Given the description of an element on the screen output the (x, y) to click on. 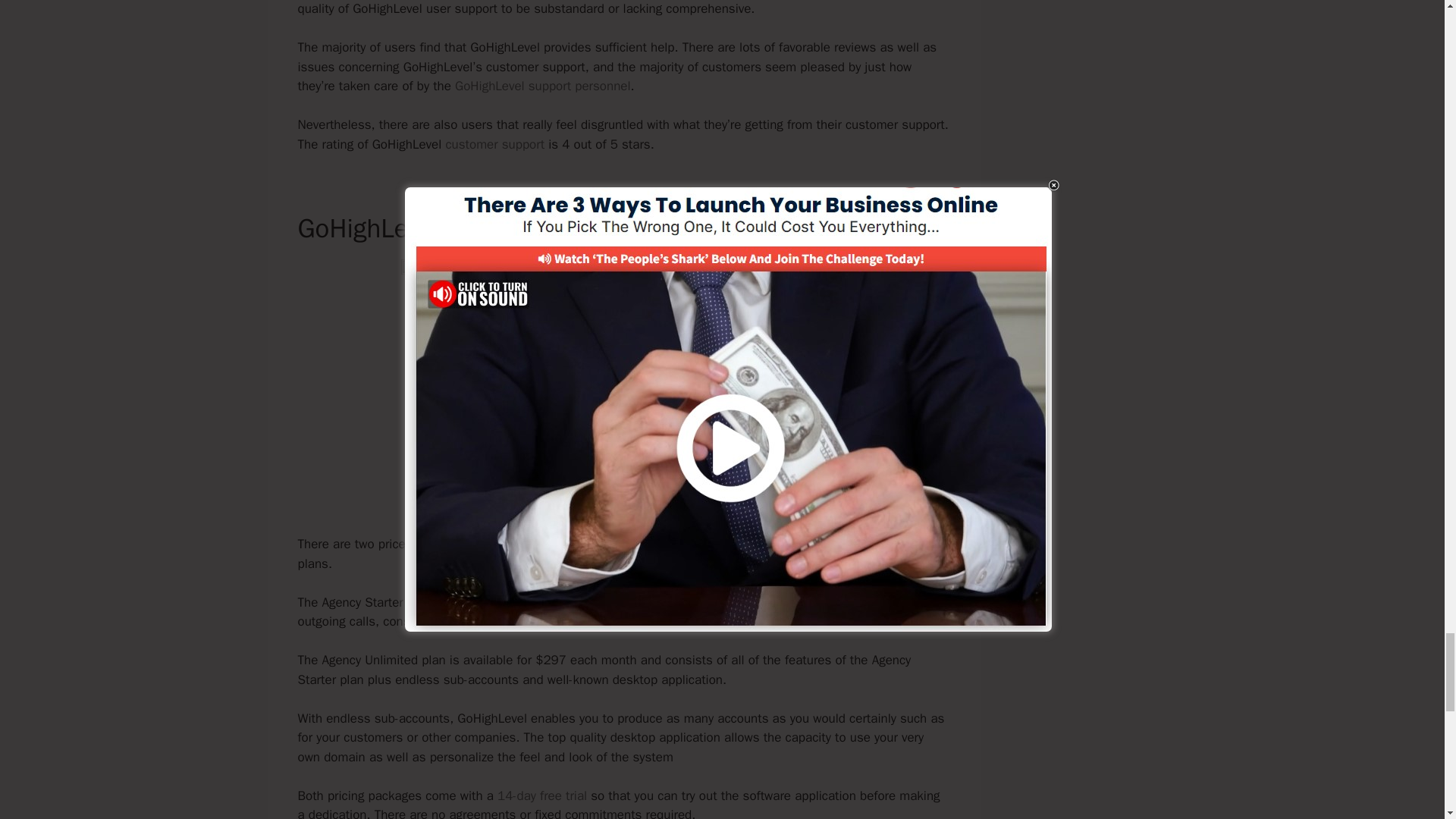
14-day free trial (541, 795)
customer support (494, 144)
GoHighLevel support personnel (542, 85)
